Given the description of an element on the screen output the (x, y) to click on. 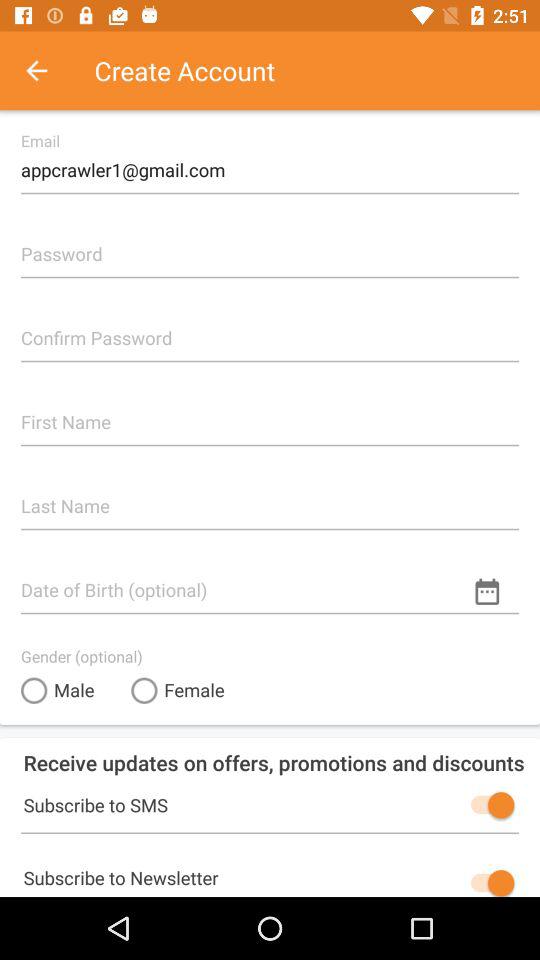
press the icon next to male icon (177, 690)
